Given the description of an element on the screen output the (x, y) to click on. 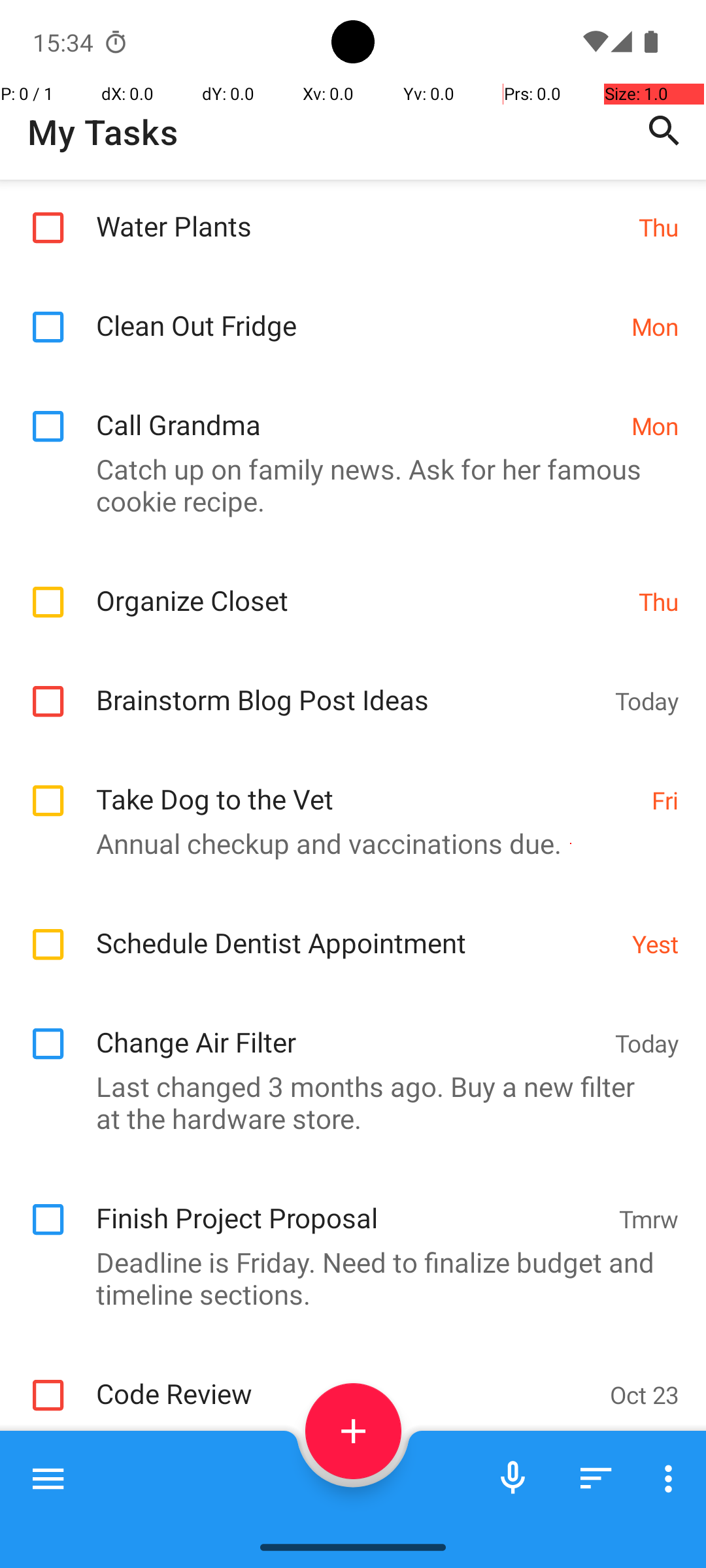
Code Review Element type: android.widget.TextView (346, 1510)
Oct 23 Element type: android.widget.TextView (644, 1512)
